Given the description of an element on the screen output the (x, y) to click on. 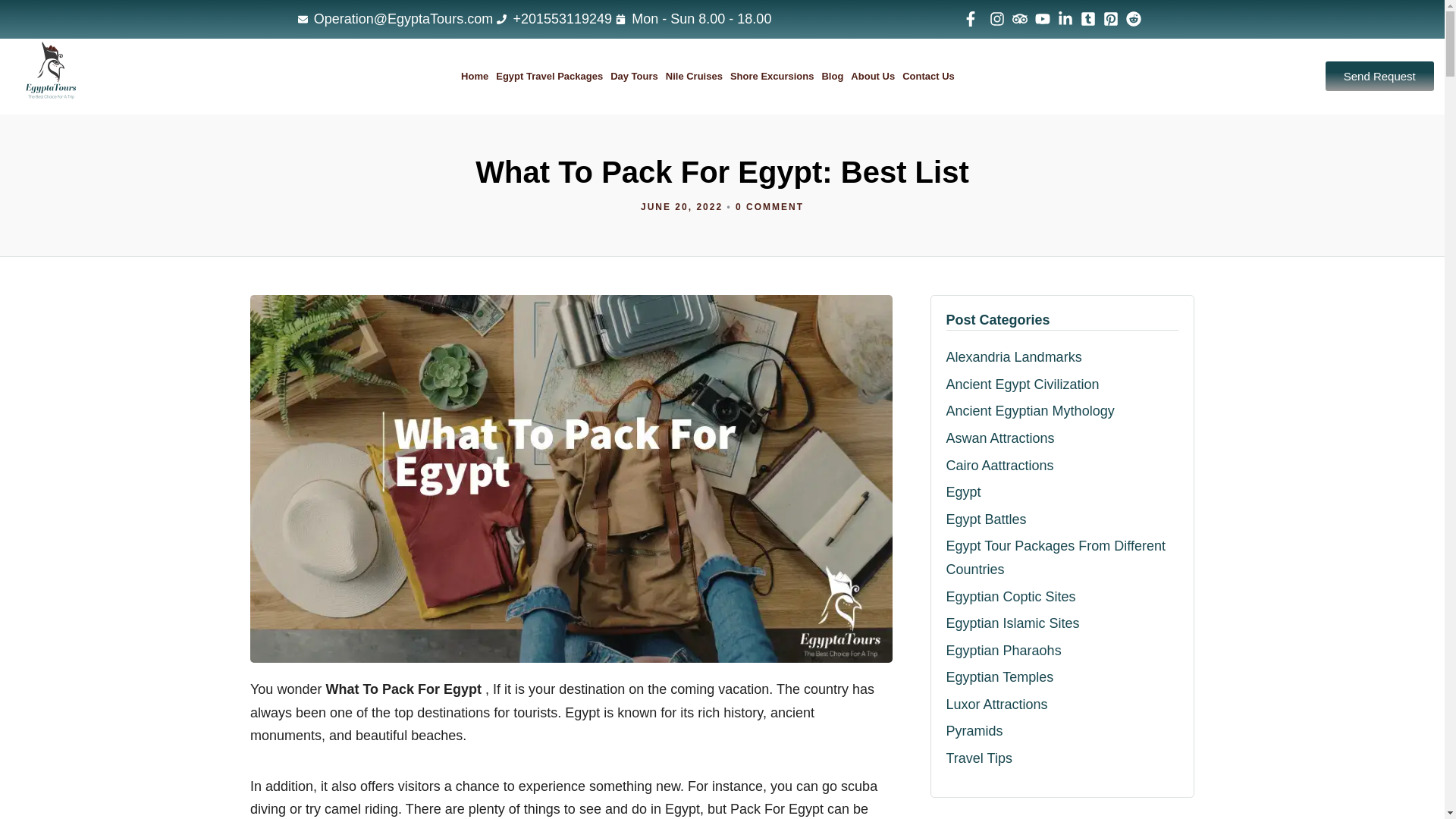
What To Pack For Egypt: Best List (681, 206)
About Us (872, 76)
Egypt Travel Packages (549, 76)
Day Tours (634, 76)
Contact Us (928, 76)
Shore Excursions (771, 76)
Nile Cruises (693, 76)
logotours (50, 76)
